Given the description of an element on the screen output the (x, y) to click on. 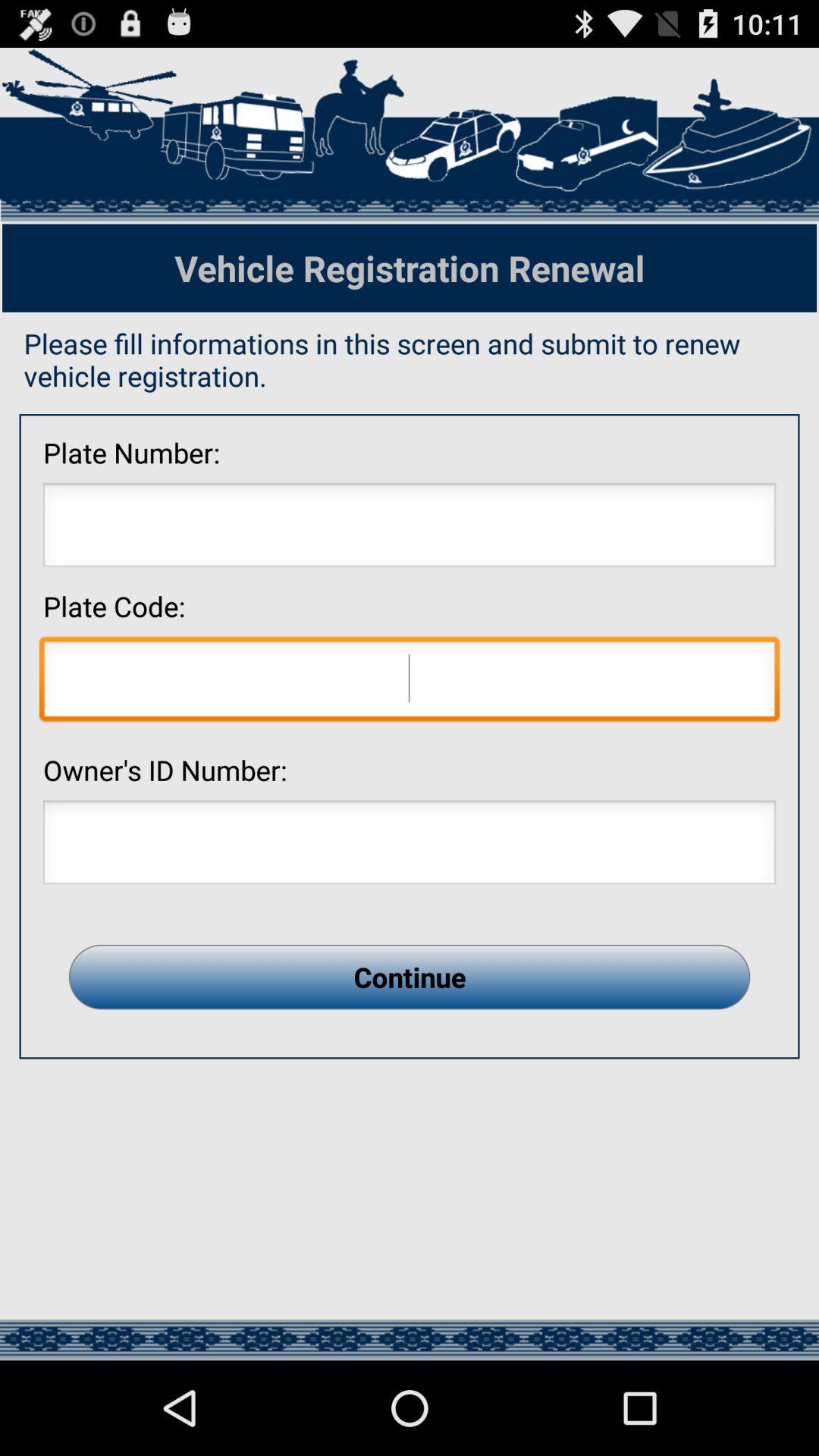
name button (409, 846)
